Given the description of an element on the screen output the (x, y) to click on. 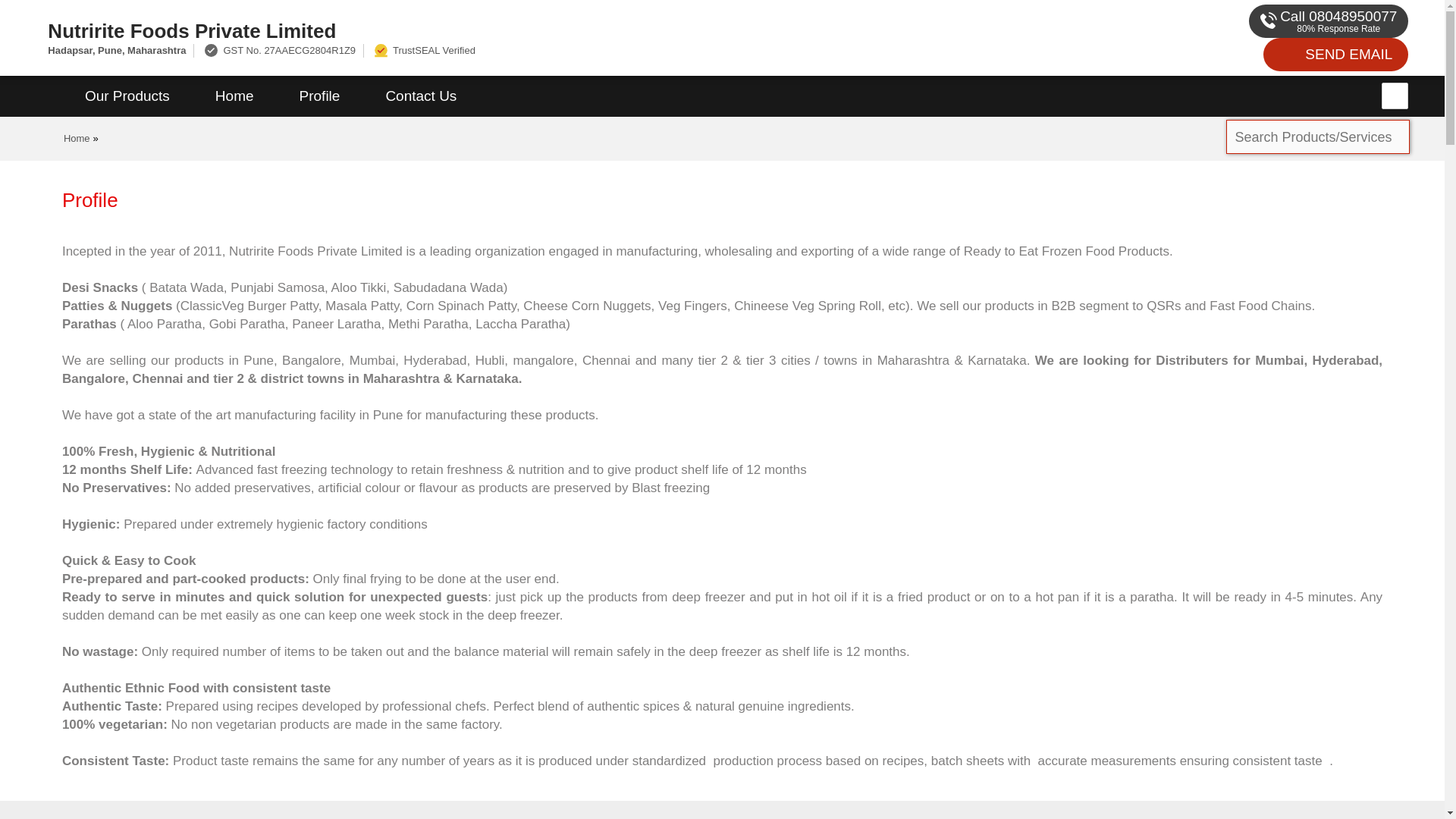
Contact Us (420, 96)
Home (234, 96)
Home (77, 138)
Profile (319, 96)
Our Products (127, 96)
Nutririte Foods Private Limited (485, 31)
